Given the description of an element on the screen output the (x, y) to click on. 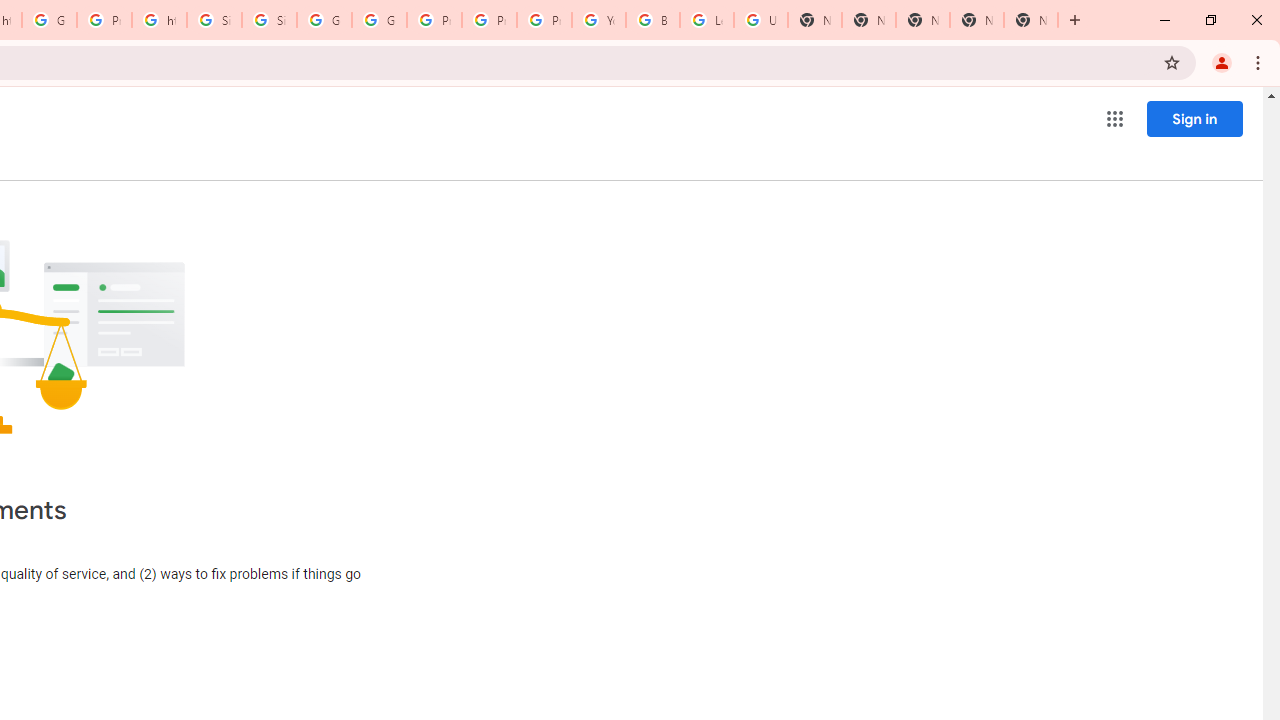
Privacy Help Center - Policies Help (489, 20)
Sign in - Google Accounts (213, 20)
https://scholar.google.com/ (158, 20)
New Tab (1030, 20)
Privacy Help Center - Policies Help (434, 20)
